Given the description of an element on the screen output the (x, y) to click on. 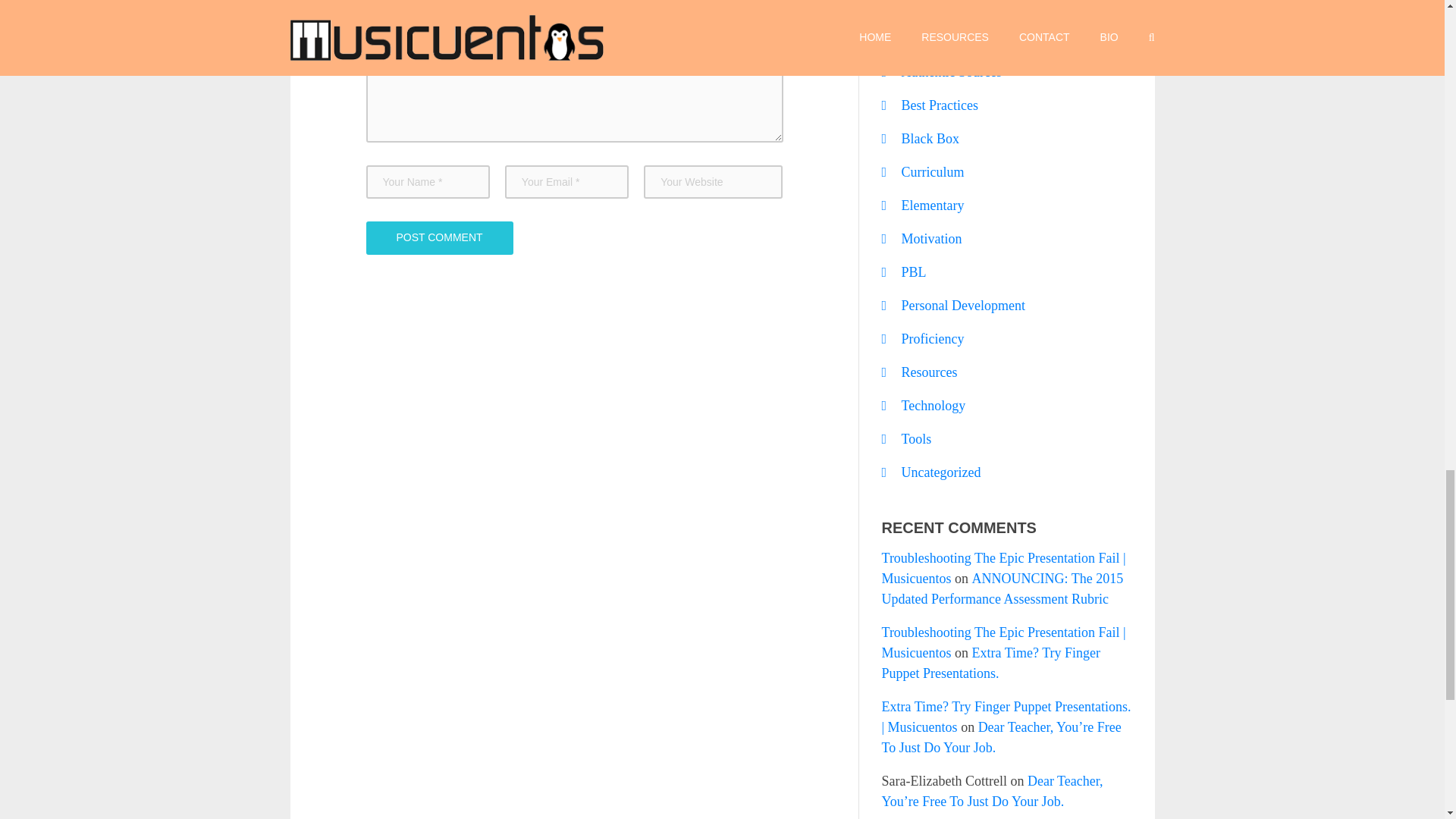
Post Comment (438, 237)
